Given the description of an element on the screen output the (x, y) to click on. 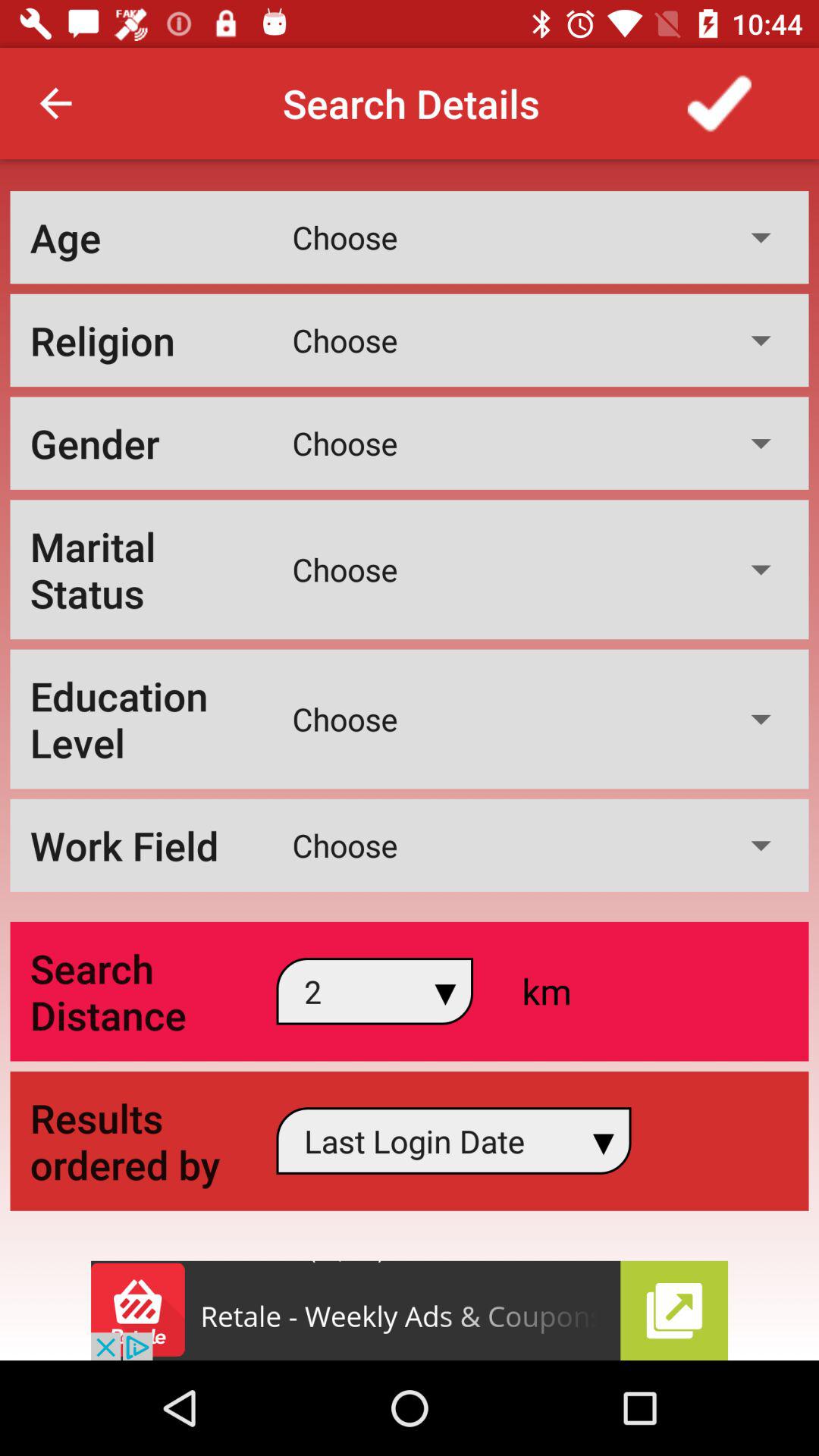
advertisement page (409, 1310)
